Given the description of an element on the screen output the (x, y) to click on. 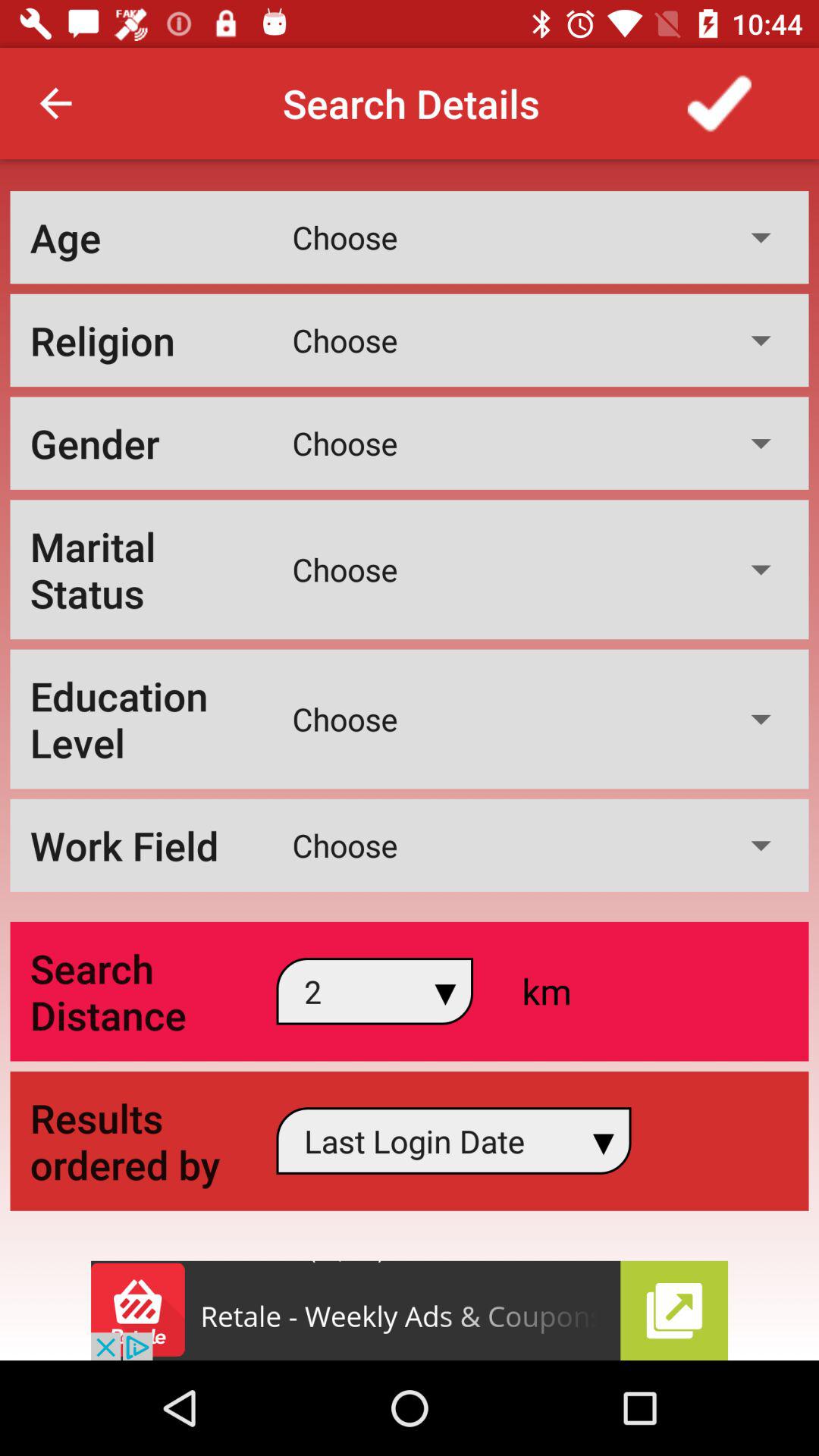
advertisement page (409, 1310)
